Given the description of an element on the screen output the (x, y) to click on. 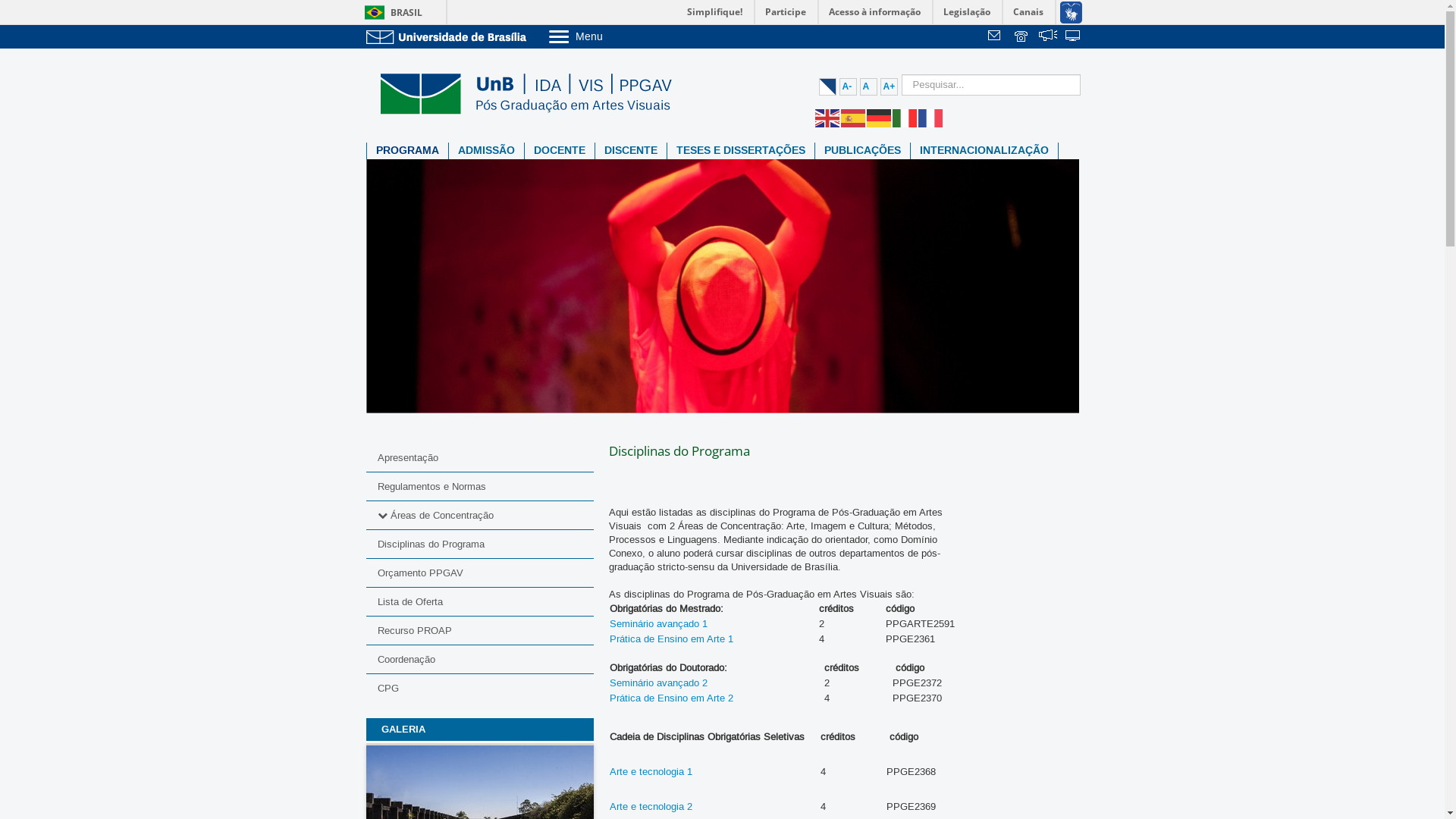
DOCENTE Element type: text (559, 150)
BRASIL Element type: text (389, 12)
DISCENTE Element type: text (629, 150)
English Element type: hover (827, 117)
  Element type: text (996, 37)
Disciplinas do Programa Element type: text (479, 543)
  Element type: text (1022, 37)
Italiano Element type: hover (904, 117)
Recurso PROAP Element type: text (479, 630)
A+ Element type: text (888, 86)
  Element type: text (1073, 37)
A- Element type: text (847, 86)
A Element type: text (868, 86)
Webmail Element type: hover (996, 37)
Ir para o Portal da UnB Element type: hover (448, 36)
CPG Element type: text (479, 687)
Deutsch Element type: hover (878, 117)
Arte e tecnologia 2 Element type: text (650, 806)
PROGRAMA Element type: text (407, 150)
Sistemas Element type: hover (1073, 37)
Arte e tecnologia 1 Element type: text (650, 771)
  Element type: text (1047, 37)
Menu Element type: text (613, 35)
Lista de Oferta Element type: text (479, 601)
Telefones da UnB Element type: hover (1022, 37)
Regulamentos e Normas Element type: text (479, 486)
Fala.BR Element type: hover (1047, 37)
